Given the description of an element on the screen output the (x, y) to click on. 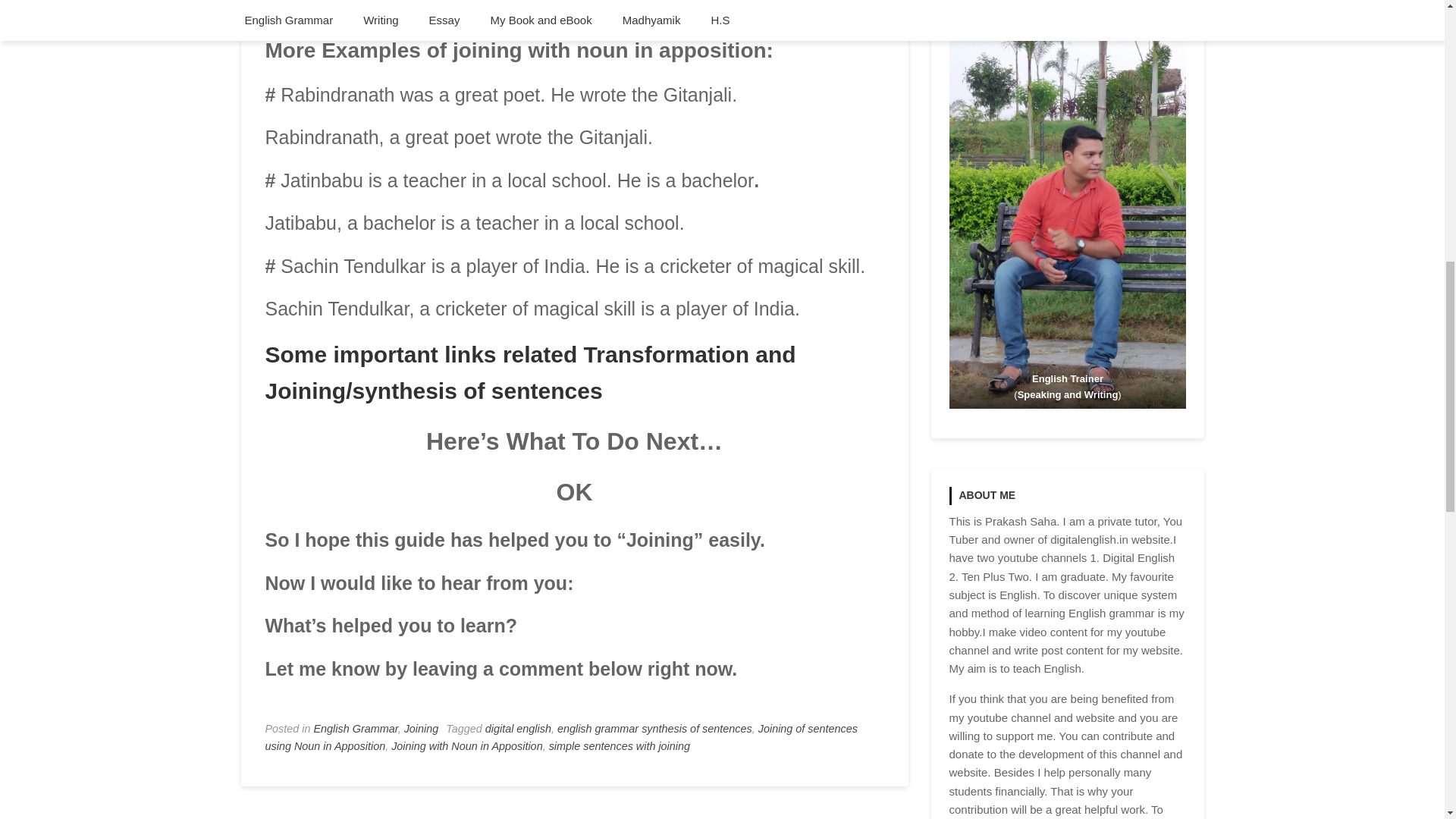
Joining (421, 728)
English Grammar (355, 728)
english grammar synthesis of sentences (654, 728)
Joining with Noun in Apposition (466, 746)
Joining of sentences using Noun in Apposition (560, 737)
digital english (517, 728)
simple sentences with joining (619, 746)
